Given the description of an element on the screen output the (x, y) to click on. 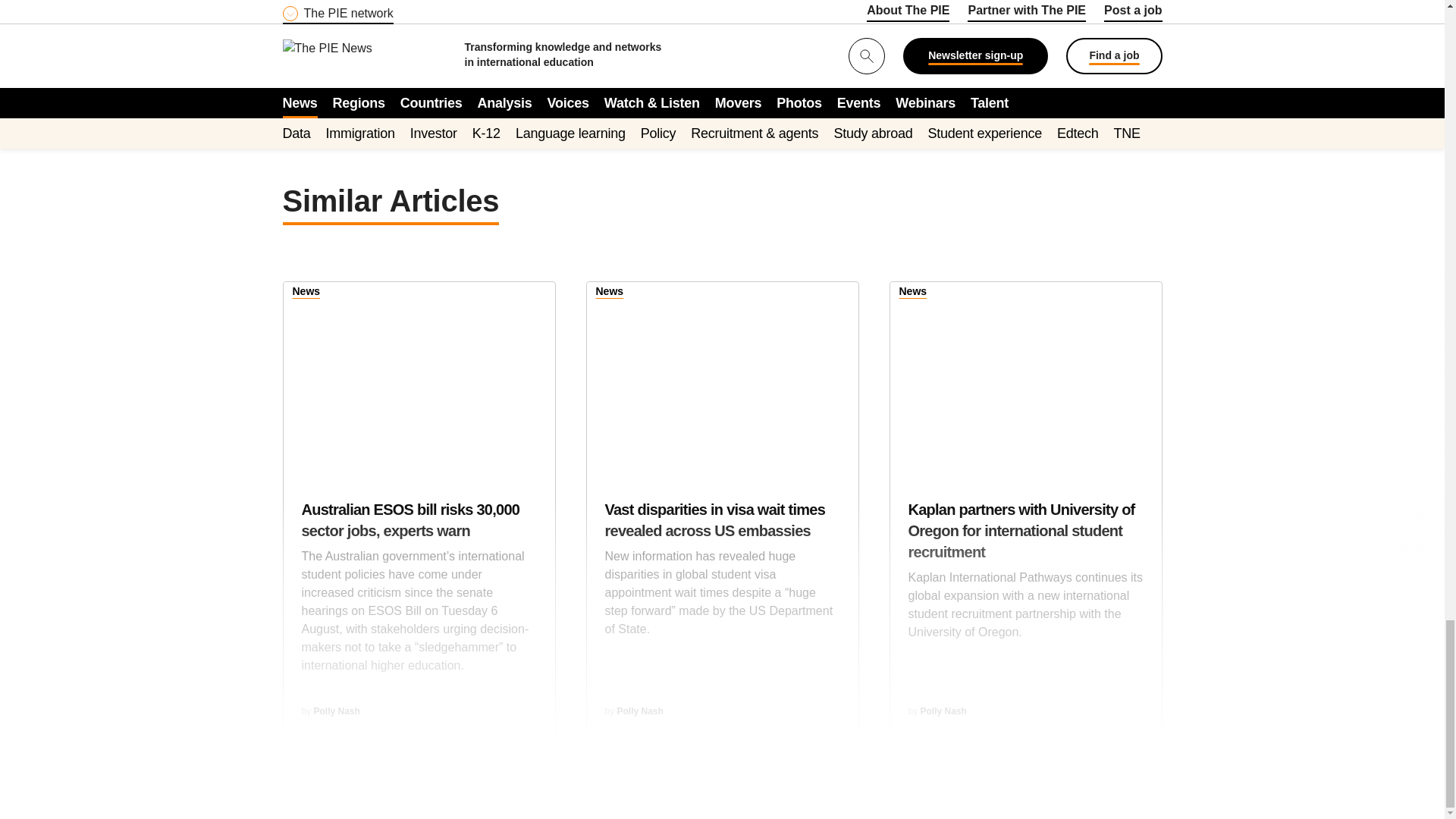
Australian ESOS bill risks 30,000 sector jobs, experts warn (419, 595)
View all News articles (306, 293)
View all News articles (609, 293)
View all News articles (912, 293)
Australian ESOS bill risks 30,000 sector jobs, experts warn (418, 375)
